Given the description of an element on the screen output the (x, y) to click on. 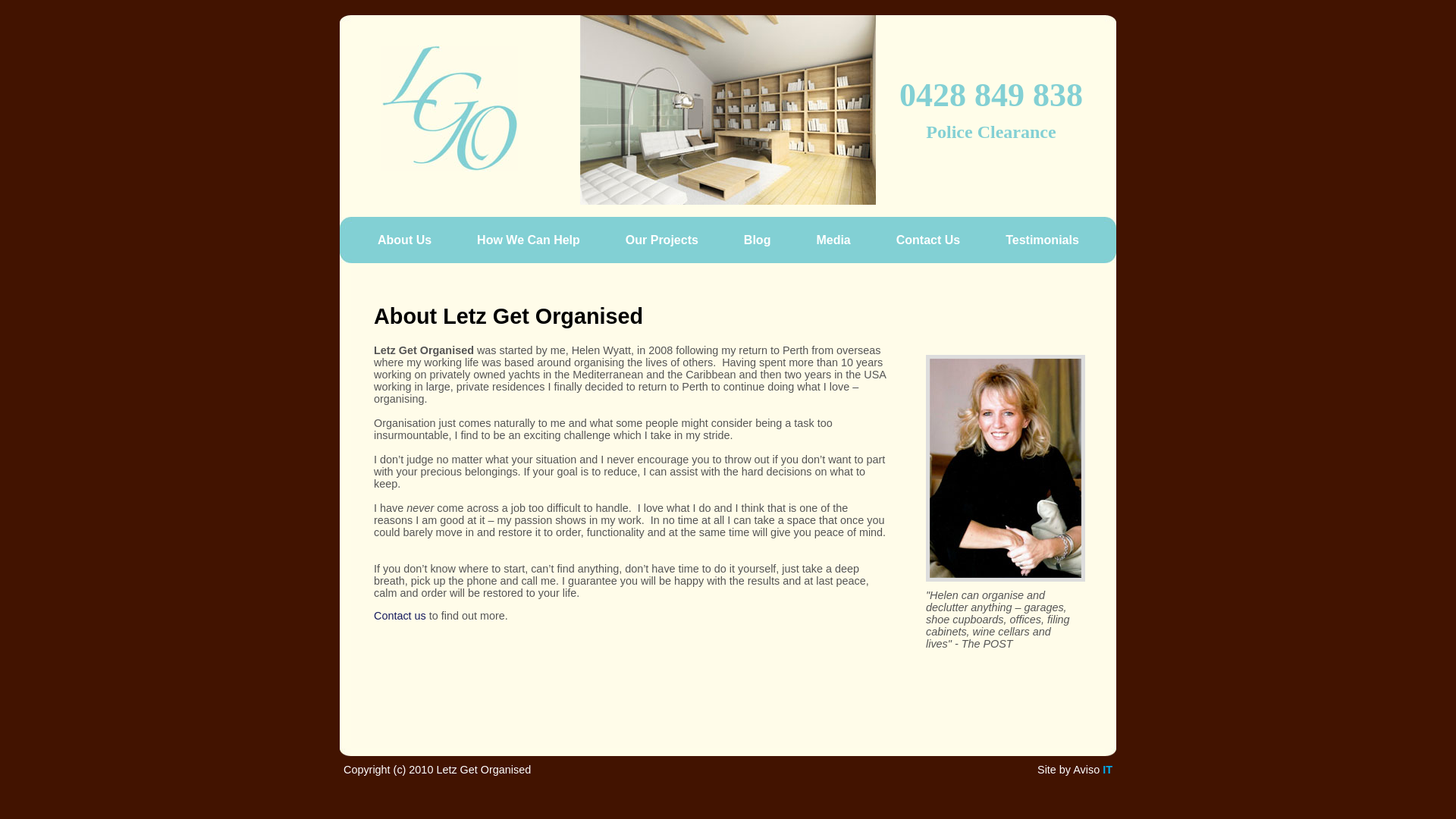
Site by Aviso IT Element type: text (1074, 769)
Testimonials Element type: text (1049, 238)
Blog Element type: text (764, 238)
Our Projects Element type: text (669, 238)
Helen Wyatt Element type: hover (1005, 467)
Media Element type: text (840, 238)
Contact us Element type: text (399, 615)
Contact Us Element type: text (935, 238)
About Us Element type: text (412, 238)
How We Can Help Element type: text (535, 238)
